Given the description of an element on the screen output the (x, y) to click on. 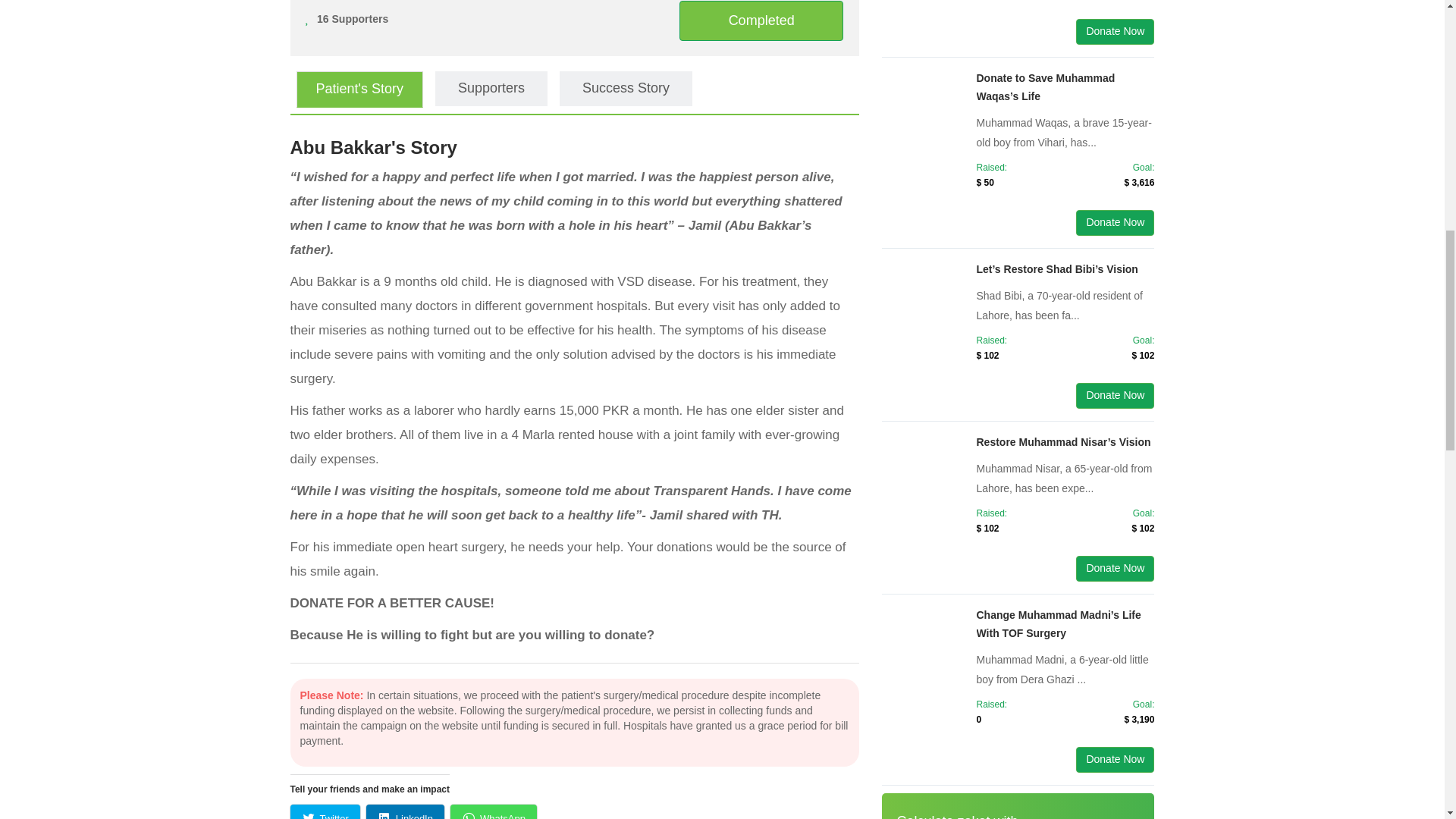
Completed (761, 20)
Success Story (626, 88)
Supporters (491, 88)
Completed (761, 19)
LinkedIn (405, 811)
Twitter (324, 811)
Patient's Story (359, 89)
WhatsApp (493, 811)
